Given the description of an element on the screen output the (x, y) to click on. 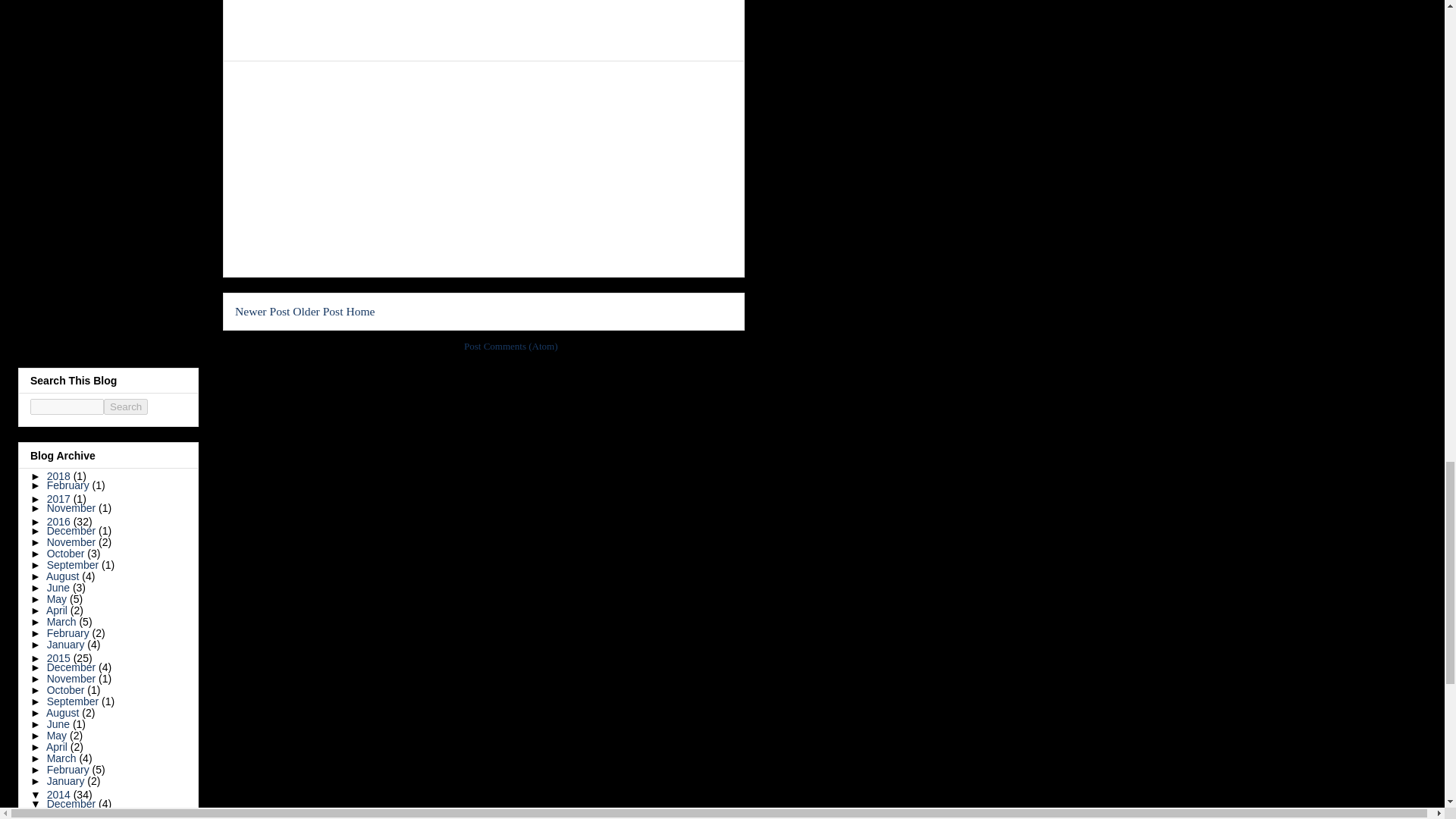
search (66, 406)
Older Post (317, 310)
Newer Post (261, 310)
Newer Post (261, 310)
Home (360, 310)
Search (125, 406)
search (125, 406)
Search (125, 406)
Older Post (317, 310)
Advertisement (348, 167)
